Given the description of an element on the screen output the (x, y) to click on. 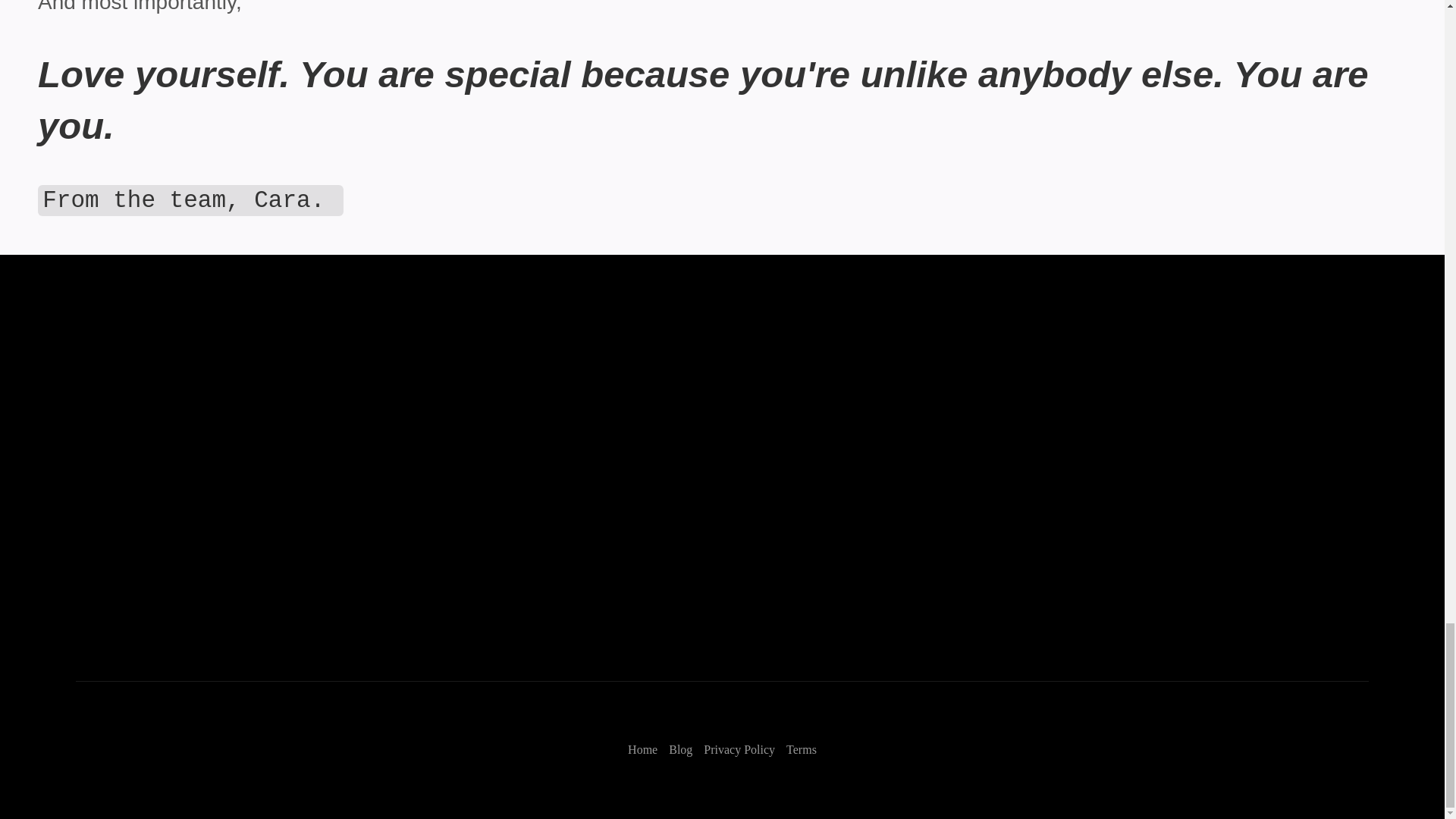
Terms (801, 748)
Privacy Policy (738, 748)
Home (642, 748)
Blog (680, 748)
